Given the description of an element on the screen output the (x, y) to click on. 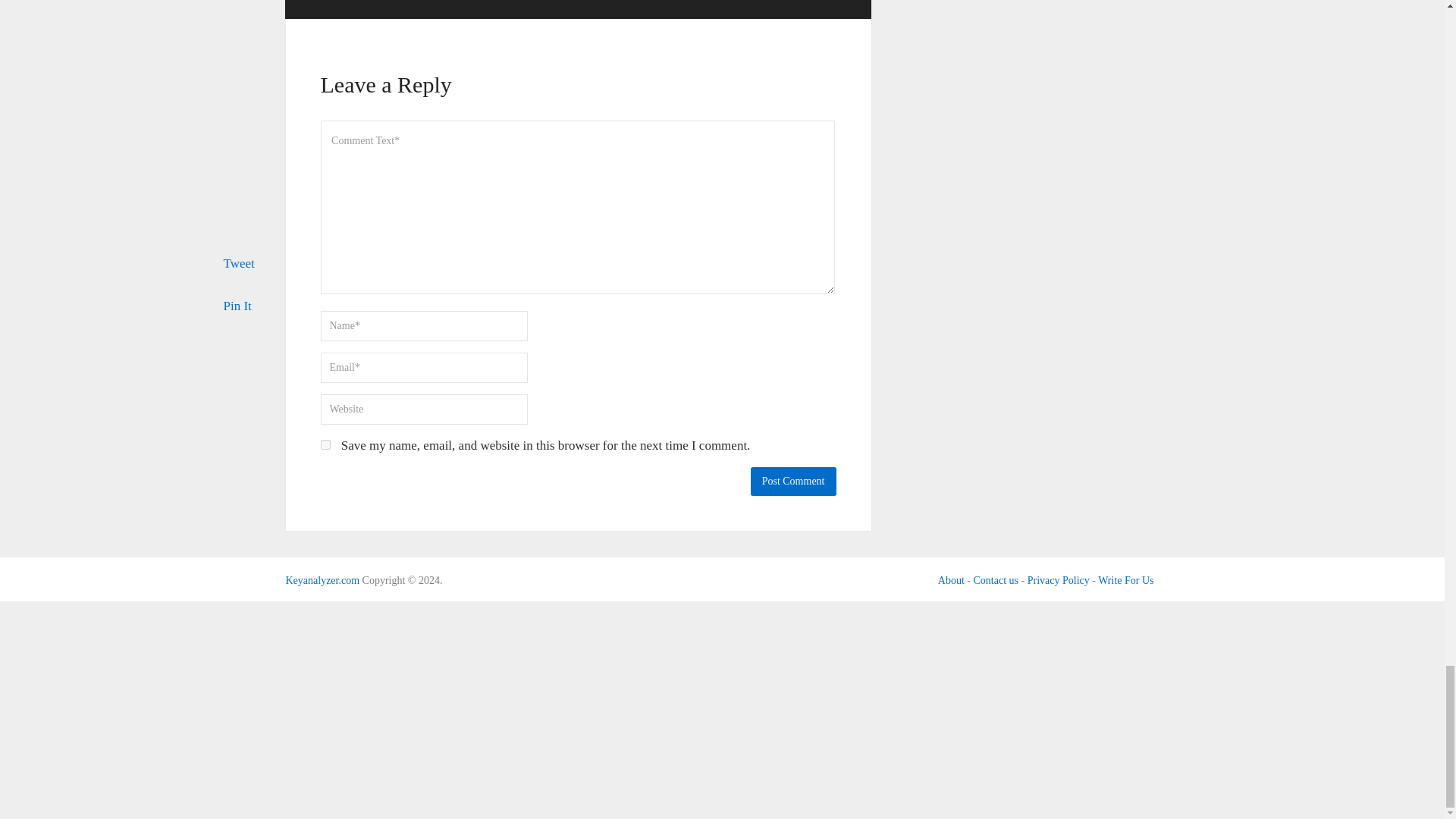
Post Comment (793, 481)
yes (325, 444)
Post Comment (793, 481)
